Given the description of an element on the screen output the (x, y) to click on. 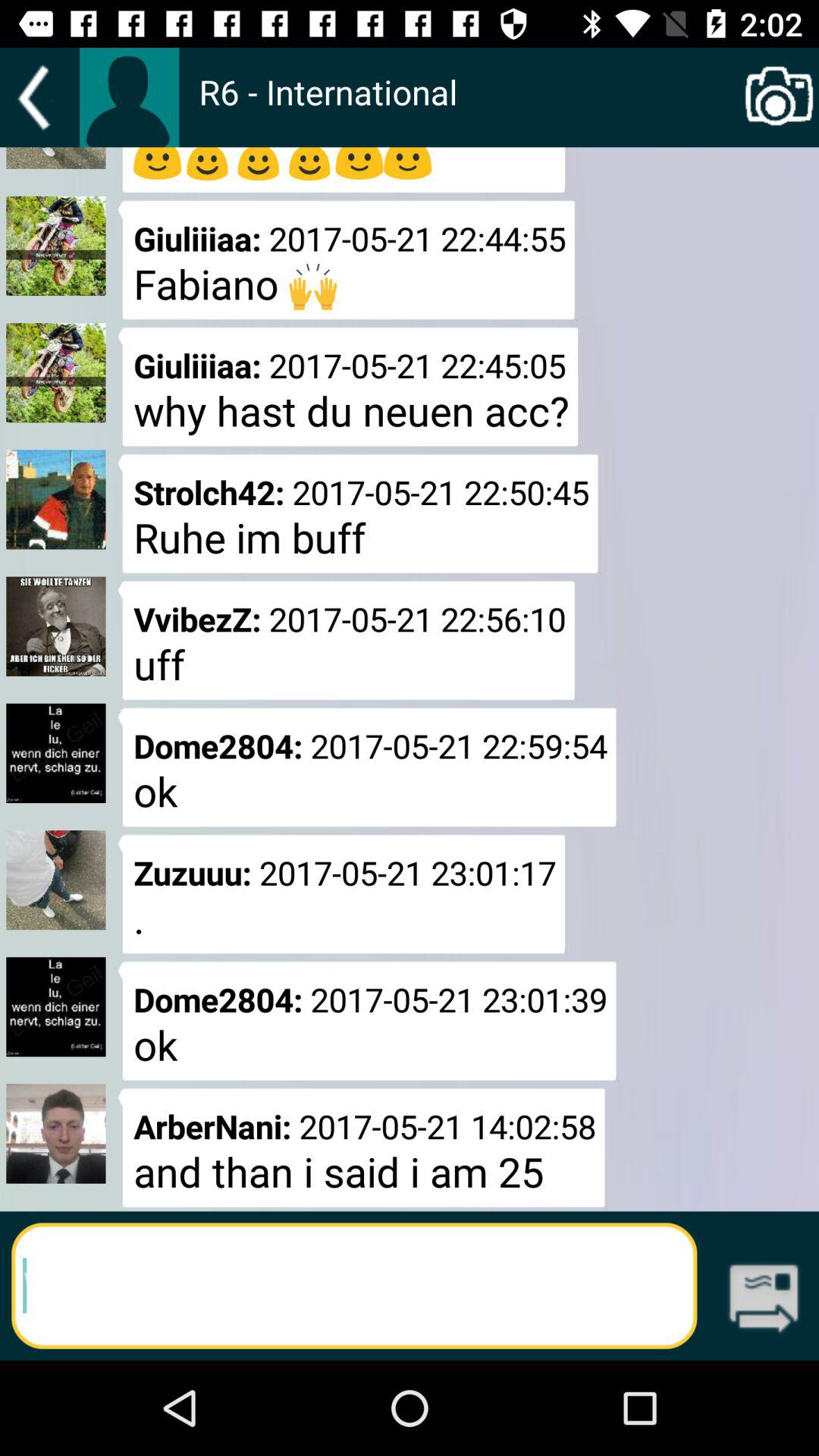
launch the item to the right of r6 - international app (779, 97)
